Given the description of an element on the screen output the (x, y) to click on. 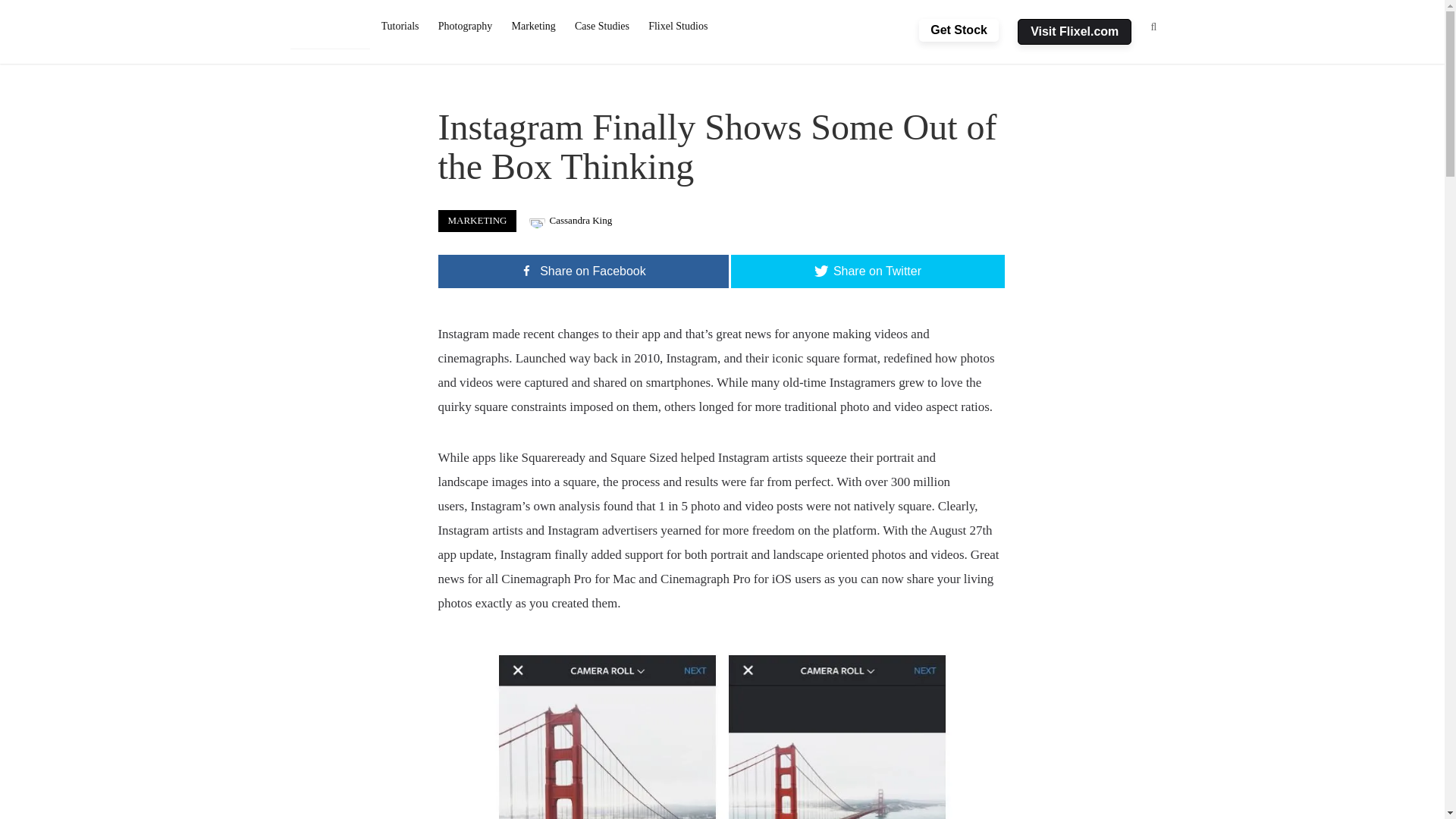
Photography (465, 26)
Marketing (534, 26)
Get Stock (959, 30)
MARKETING (477, 220)
Visit Flixel.com (1075, 31)
Get Stock (958, 29)
Flixel Studios (678, 26)
Visit Flixel.com (1074, 31)
Case Studies (601, 26)
cinemagraphs (473, 358)
